Given the description of an element on the screen output the (x, y) to click on. 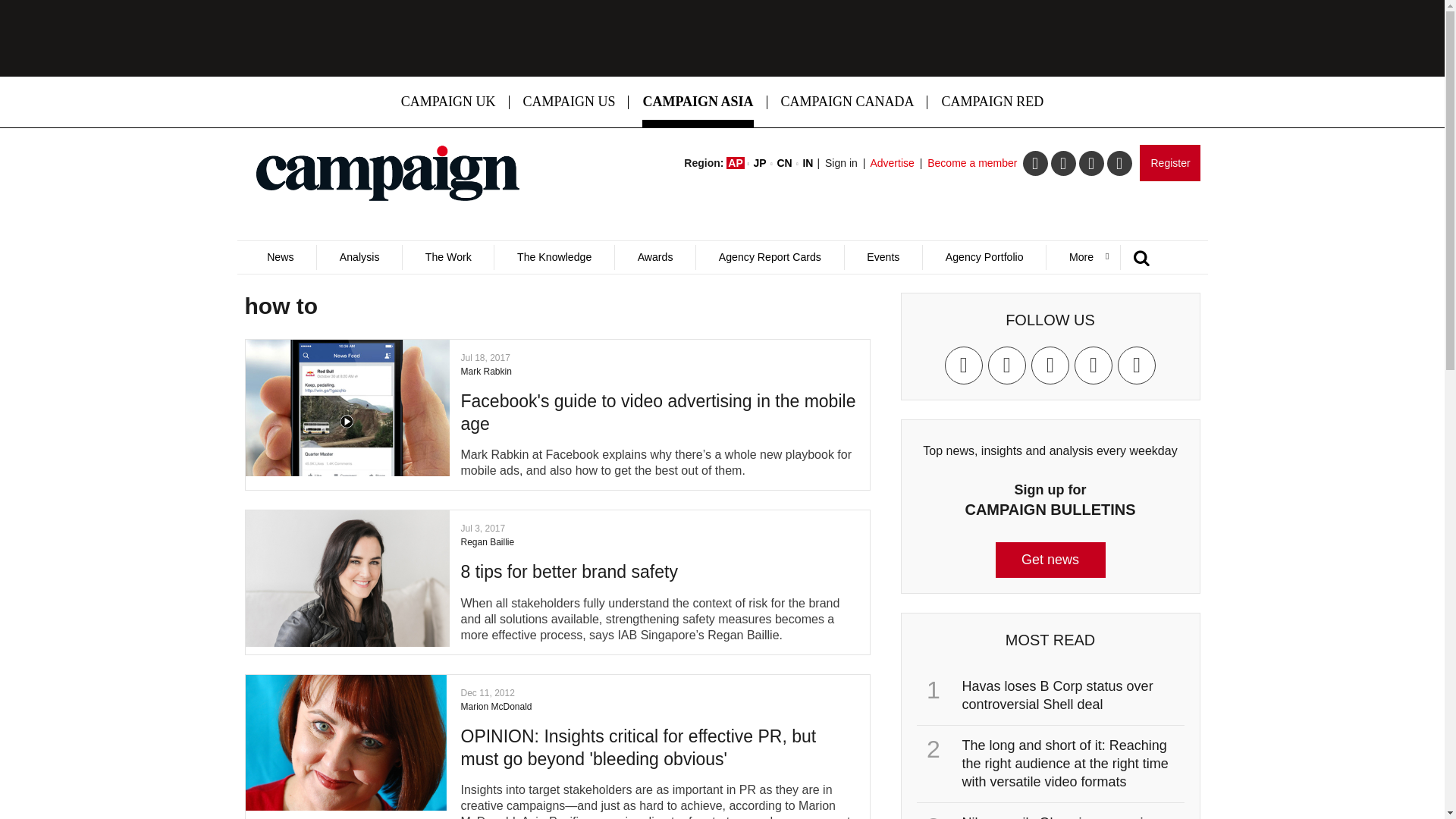
Search (952, 310)
News (279, 257)
JP (760, 162)
AP (735, 162)
Agency Portfolio (983, 257)
Analysis (358, 257)
CN (783, 162)
CAMPAIGN RED (992, 101)
Analysis (358, 257)
CAMPAIGN UK (448, 101)
Sign in (841, 162)
The Work (447, 257)
Events (883, 257)
Agency Portfolio (983, 257)
CAMPAIGN CANADA (847, 101)
